Given the description of an element on the screen output the (x, y) to click on. 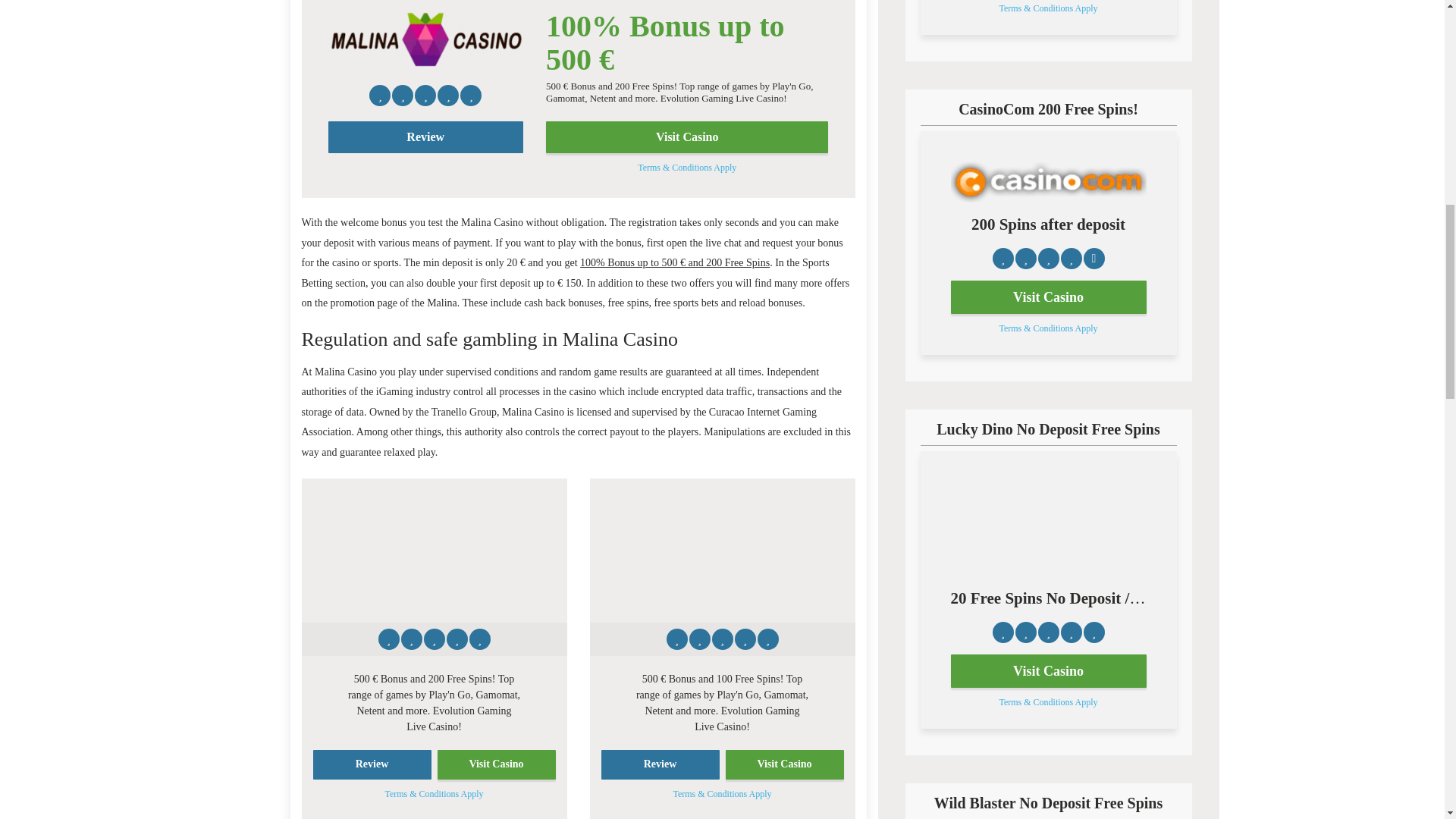
Visit Casino (1048, 670)
Visit Casino (495, 764)
Review (659, 764)
Visit Casino (784, 764)
Visit Casino (1048, 296)
Review (424, 137)
Visit Casino (687, 137)
Review (371, 764)
